Given the description of an element on the screen output the (x, y) to click on. 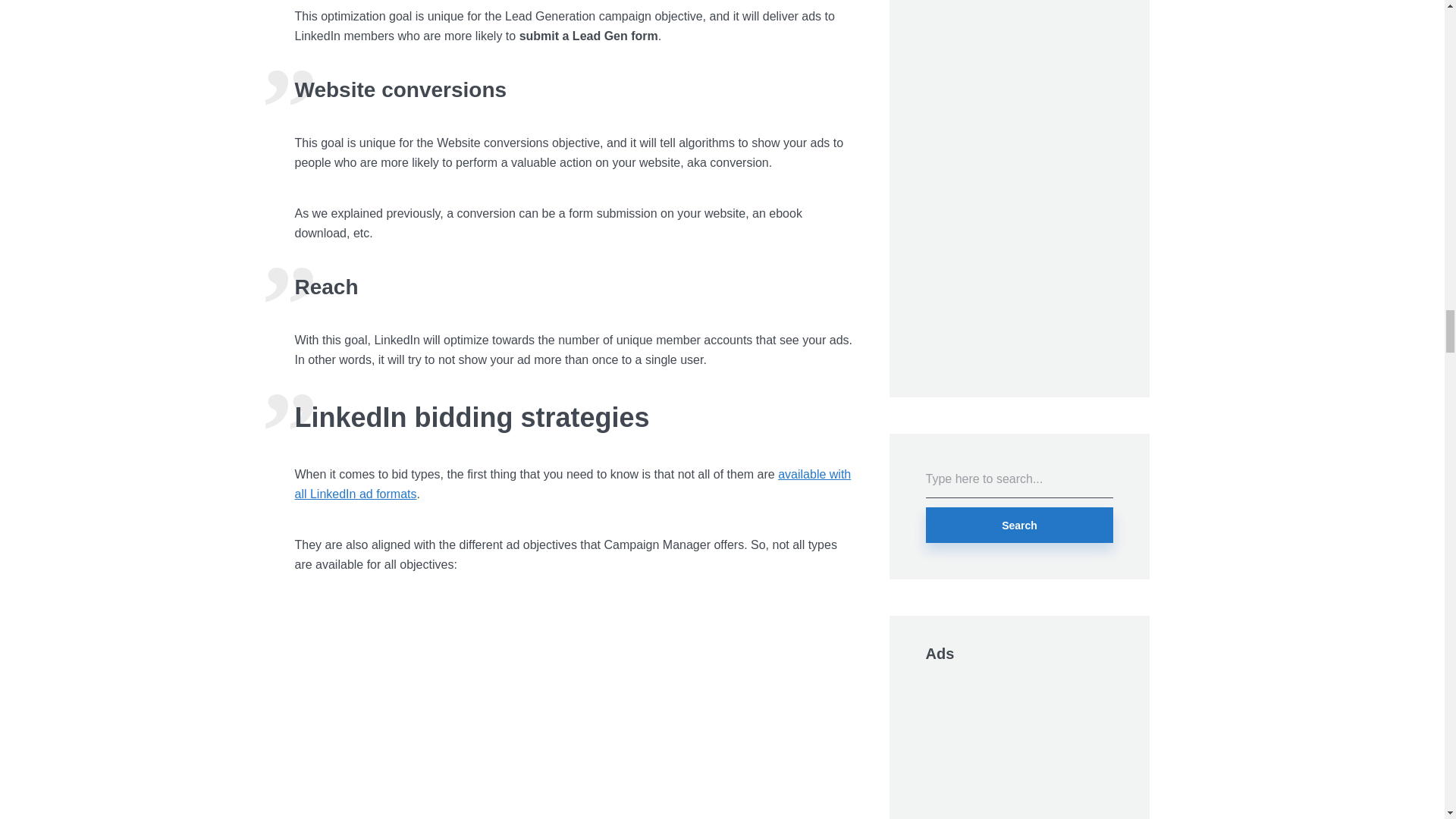
available with all LinkedIn ad formats (572, 483)
